Given the description of an element on the screen output the (x, y) to click on. 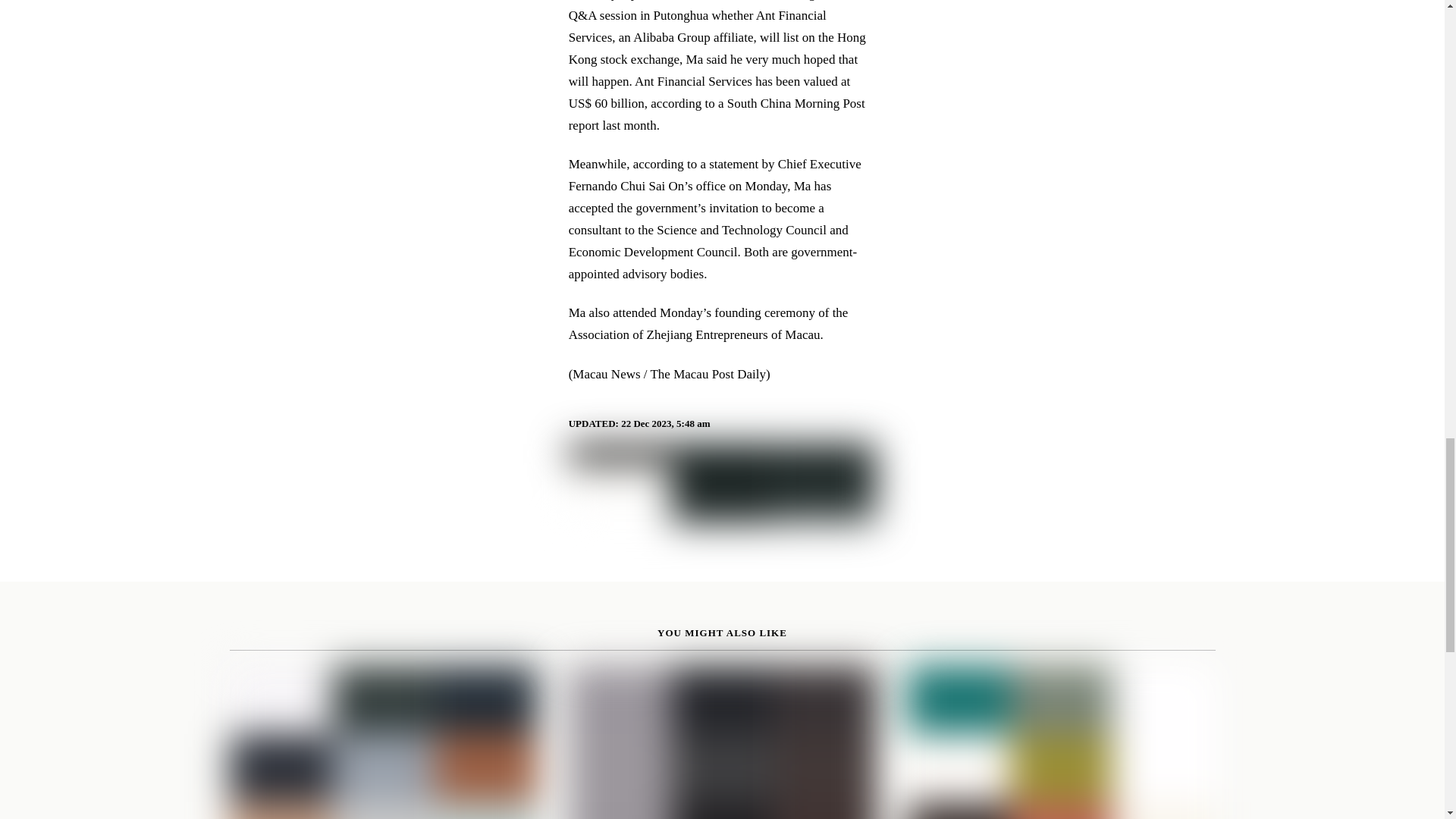
Investment projects facilitated by IPIM show a dramatic rise (382, 742)
the tea Banner desktop (722, 483)
